Given the description of an element on the screen output the (x, y) to click on. 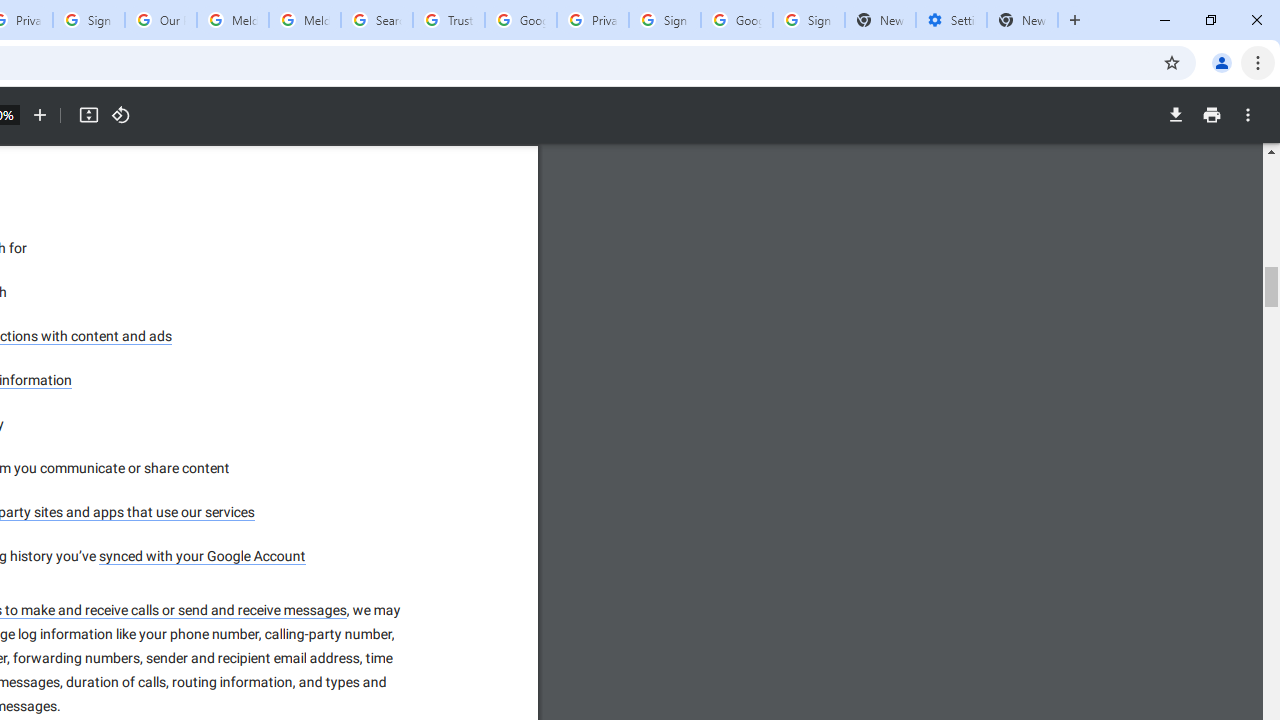
Minimize (1165, 20)
Rotate counterclockwise (119, 115)
Google Cybersecurity Innovations - Google Safety Center (737, 20)
More actions (1247, 115)
Zoom in (39, 115)
Close (1256, 20)
Sign in - Google Accounts (808, 20)
Download (1175, 115)
synced with your Google Account (202, 556)
Print (1211, 115)
Google Ads - Sign in (520, 20)
Search our Doodle Library Collection - Google Doodles (376, 20)
